Given the description of an element on the screen output the (x, y) to click on. 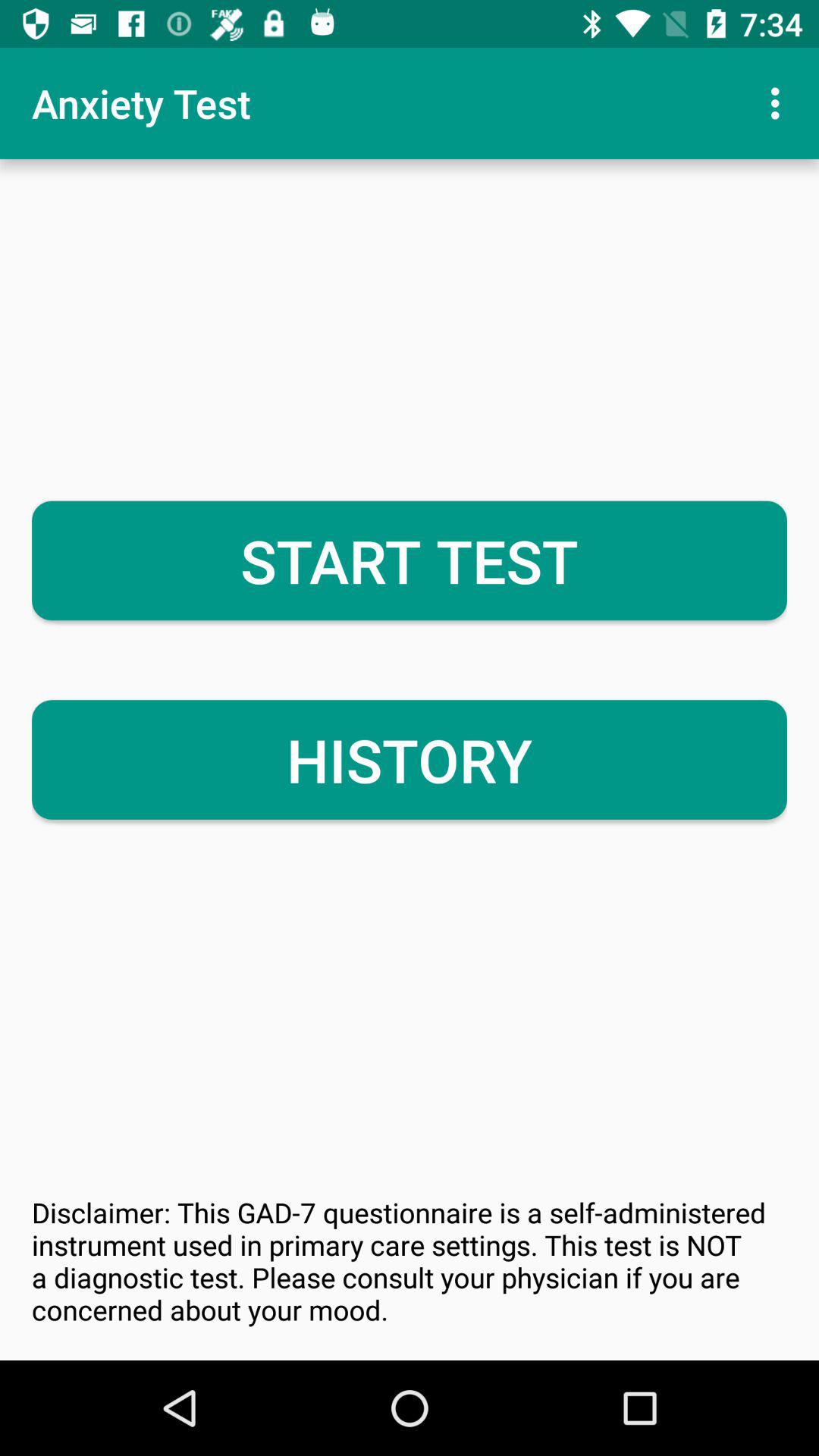
launch icon above disclaimer this gad item (409, 759)
